Given the description of an element on the screen output the (x, y) to click on. 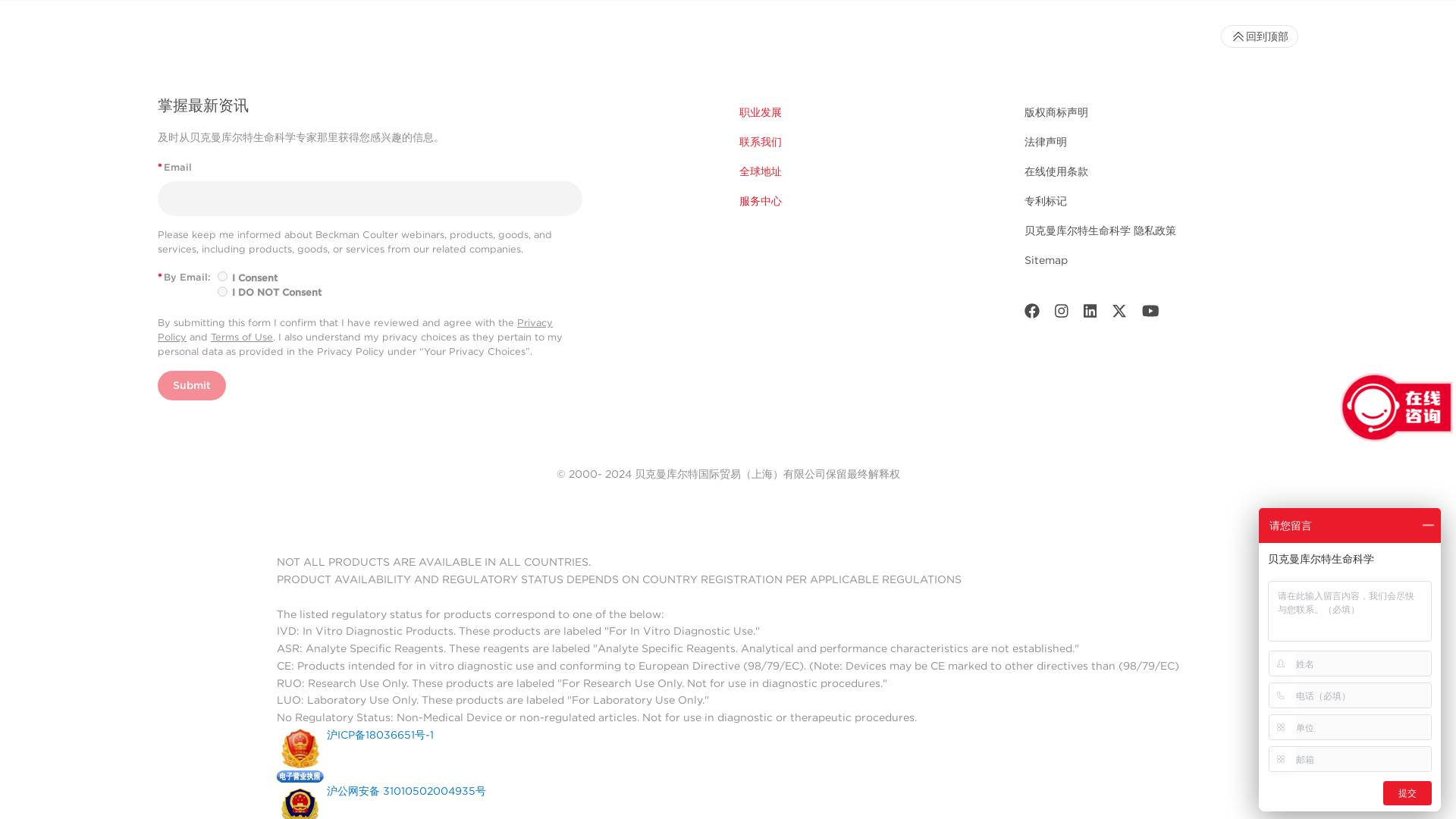
Yes (221, 276)
No (221, 291)
